Given the description of an element on the screen output the (x, y) to click on. 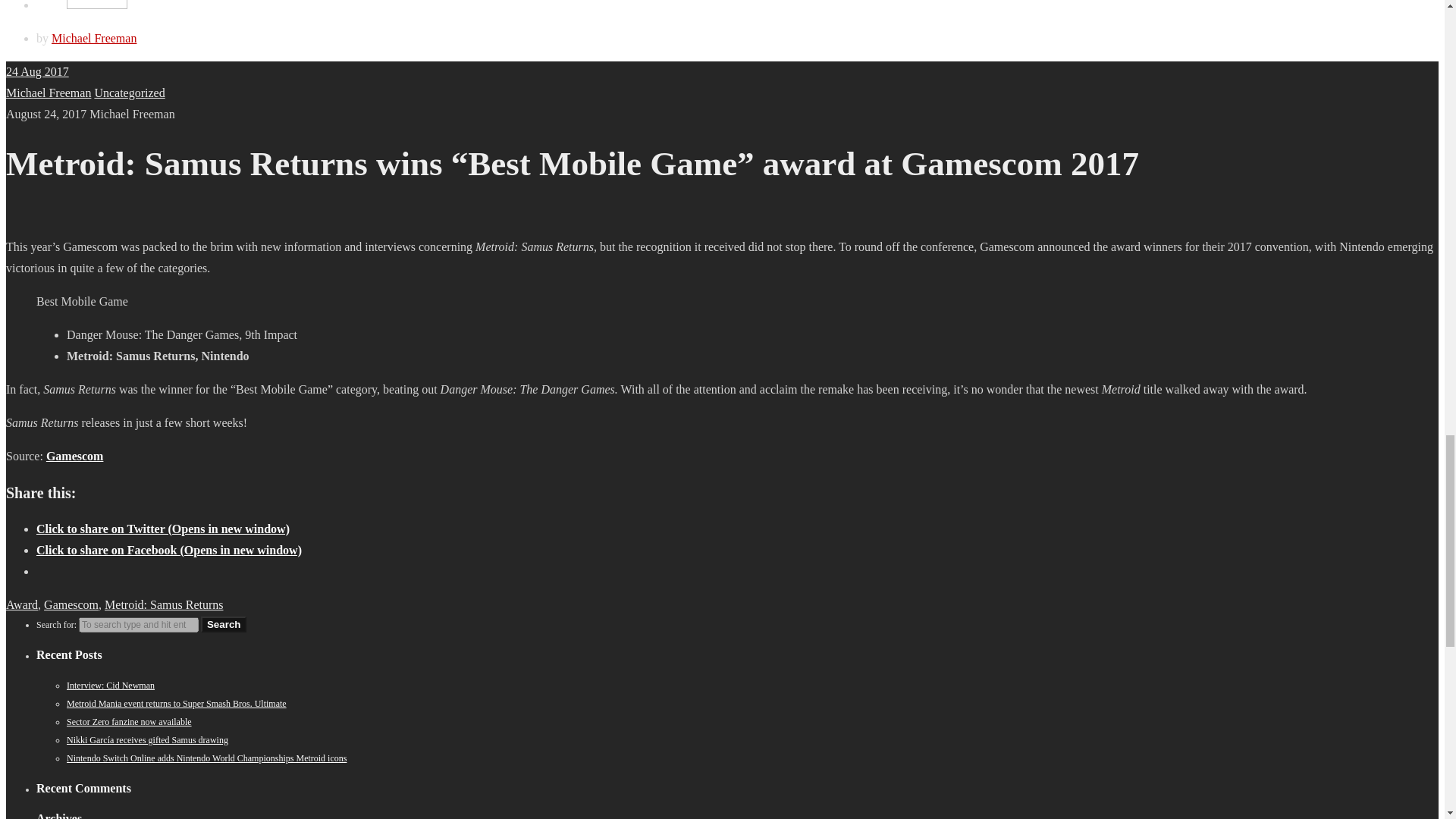
Michael Freeman (93, 38)
Gamescom (71, 604)
Metroid: Samus Returns (163, 604)
Sector Zero fanzine now available (129, 721)
Search (223, 624)
Uncategorized (129, 92)
Metroid Mania event returns to Super Smash Bros. Ultimate (176, 703)
Award (21, 604)
Click to share on Twitter (162, 528)
Michael Freeman (47, 92)
